Given the description of an element on the screen output the (x, y) to click on. 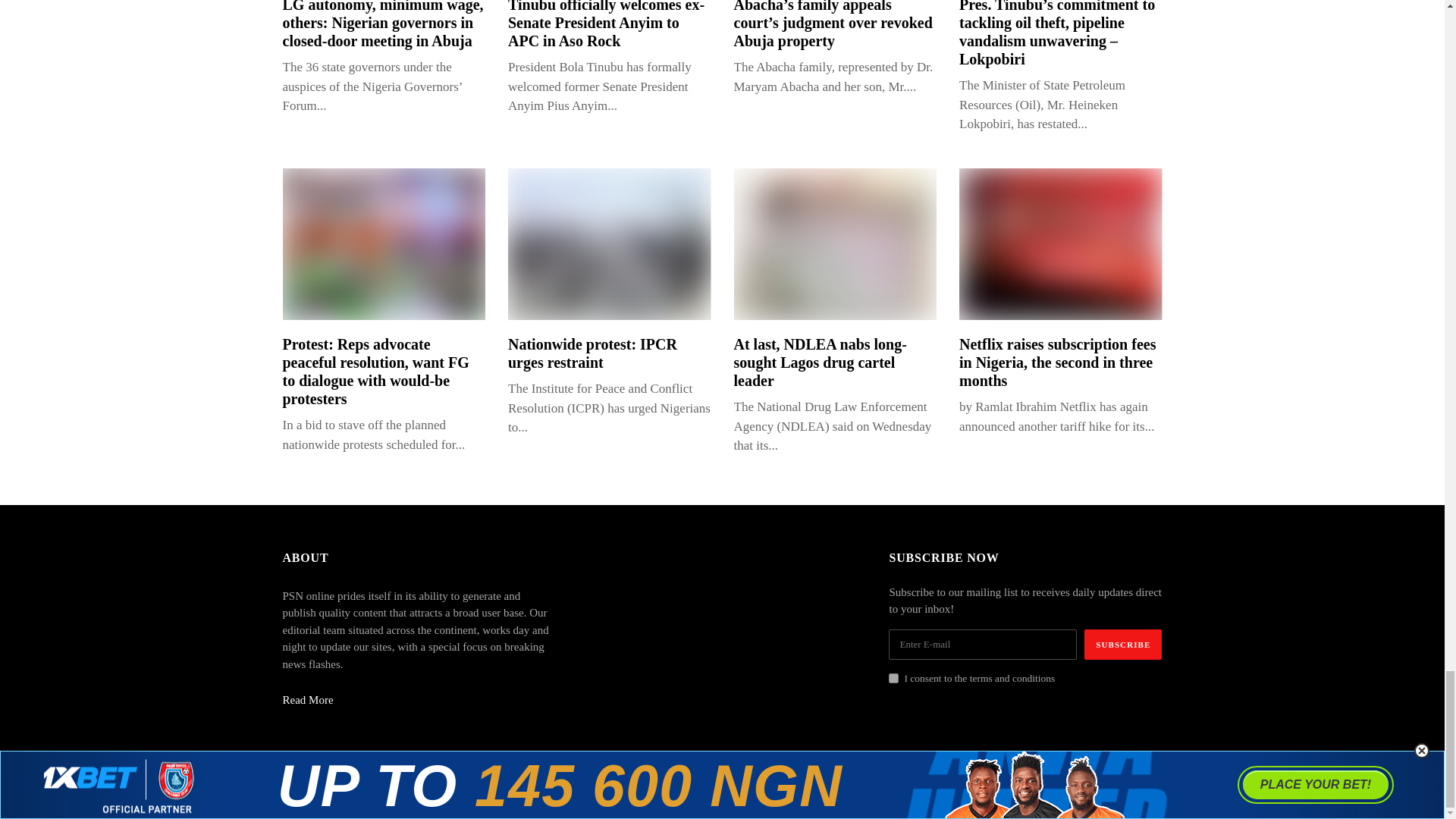
Subscribe (1122, 644)
1 (893, 678)
